Given the description of an element on the screen output the (x, y) to click on. 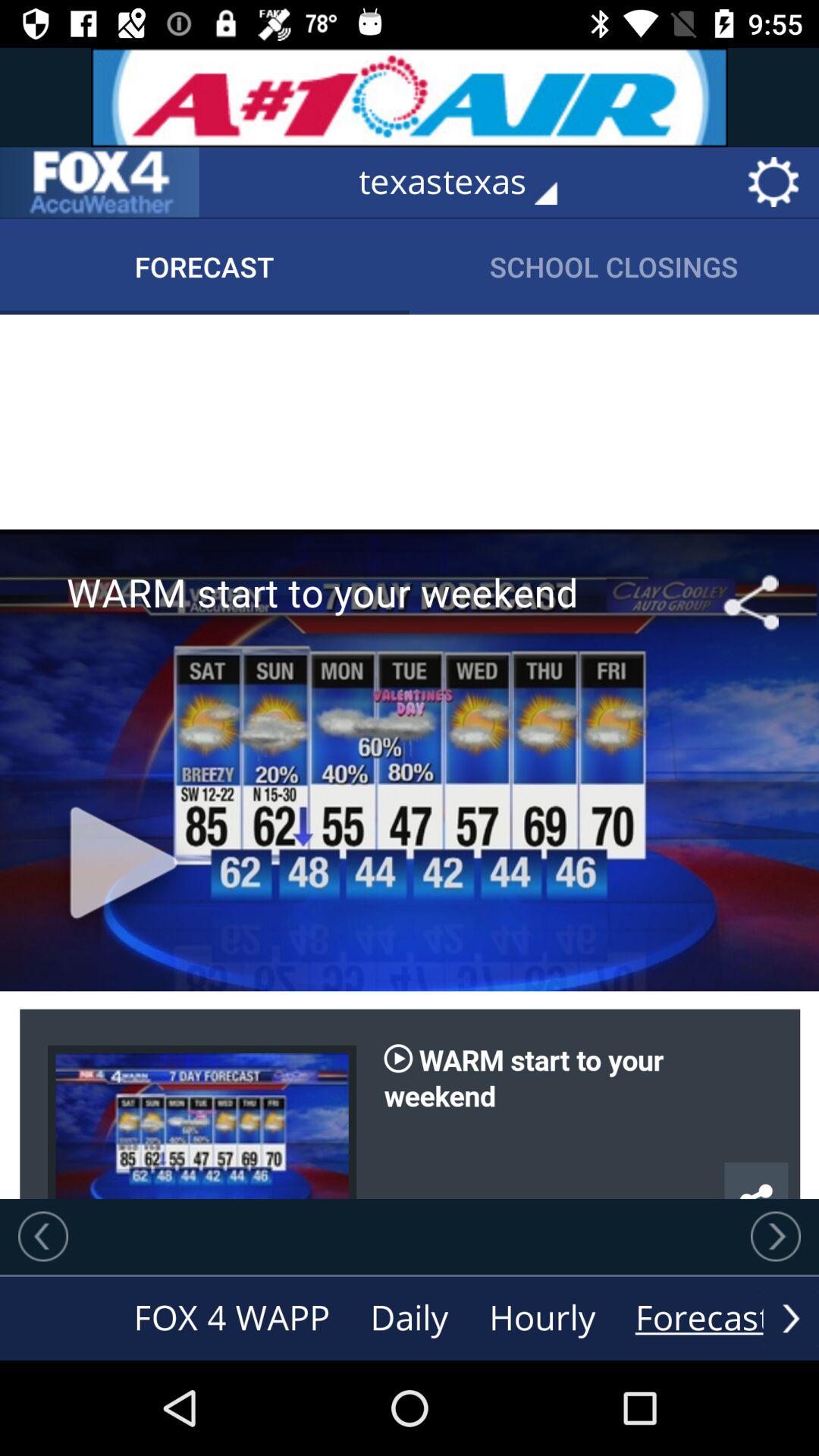
click on the menu in the left corner (99, 182)
